Given the description of an element on the screen output the (x, y) to click on. 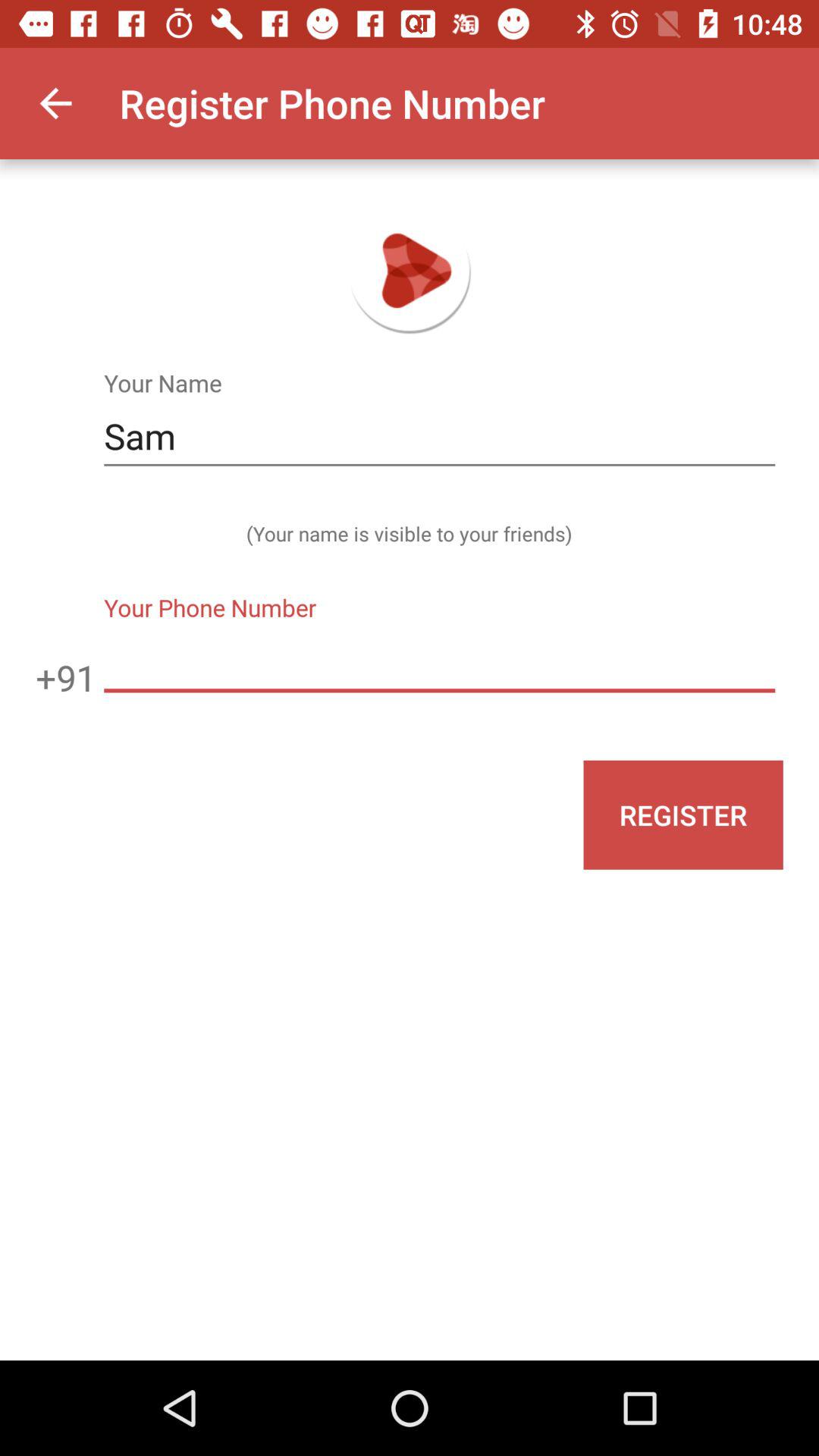
select the sam item (439, 436)
